Given the description of an element on the screen output the (x, y) to click on. 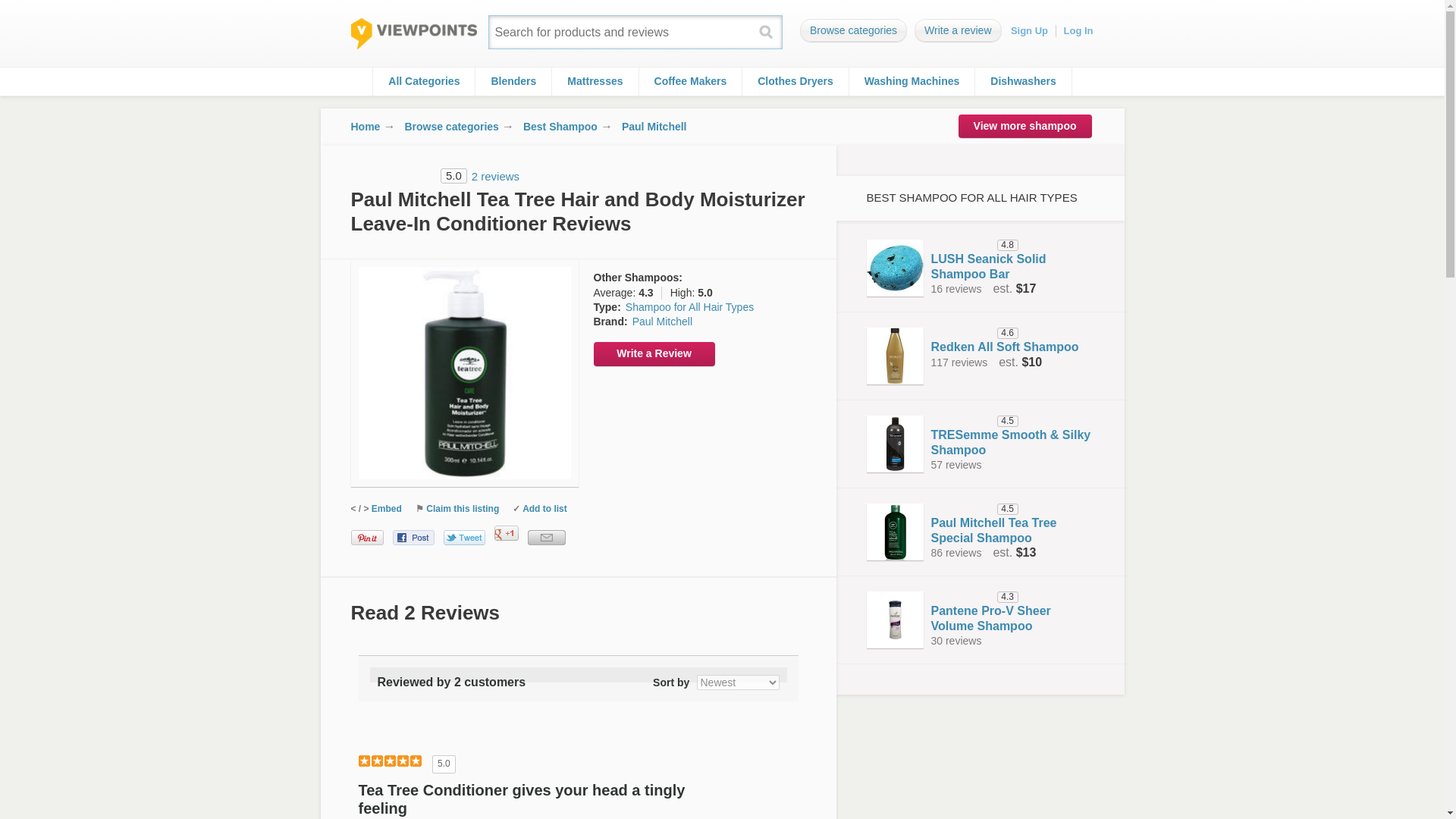
Mattresses (594, 81)
2 reviews (495, 176)
Dishwashers (1022, 81)
4.5 of 5.0 stars (962, 421)
Paul Mitchell (654, 126)
Perfect. It doesn't get any better (389, 761)
Browse categories (853, 29)
4.6 of 5.0 stars (962, 333)
Write a Review (653, 353)
5.0 of 5.0 stars (392, 175)
Browse categories (451, 126)
